Given the description of an element on the screen output the (x, y) to click on. 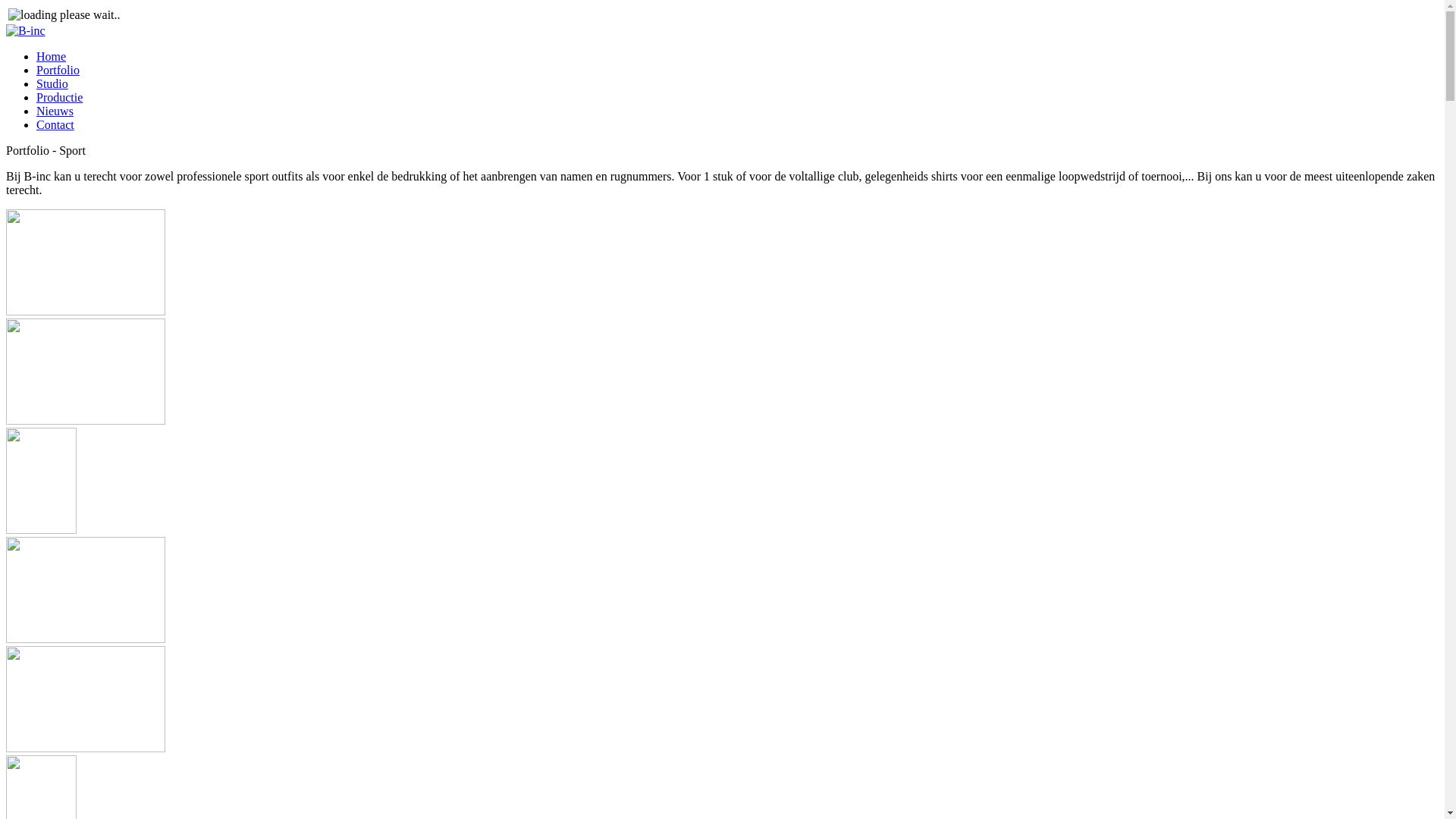
Productie Element type: text (59, 97)
Studio Element type: text (52, 83)
Contact Element type: text (55, 124)
Portfolio Element type: text (57, 69)
Home Element type: text (50, 56)
B-inc Element type: hover (25, 30)
Nieuws Element type: text (54, 110)
